Given the description of an element on the screen output the (x, y) to click on. 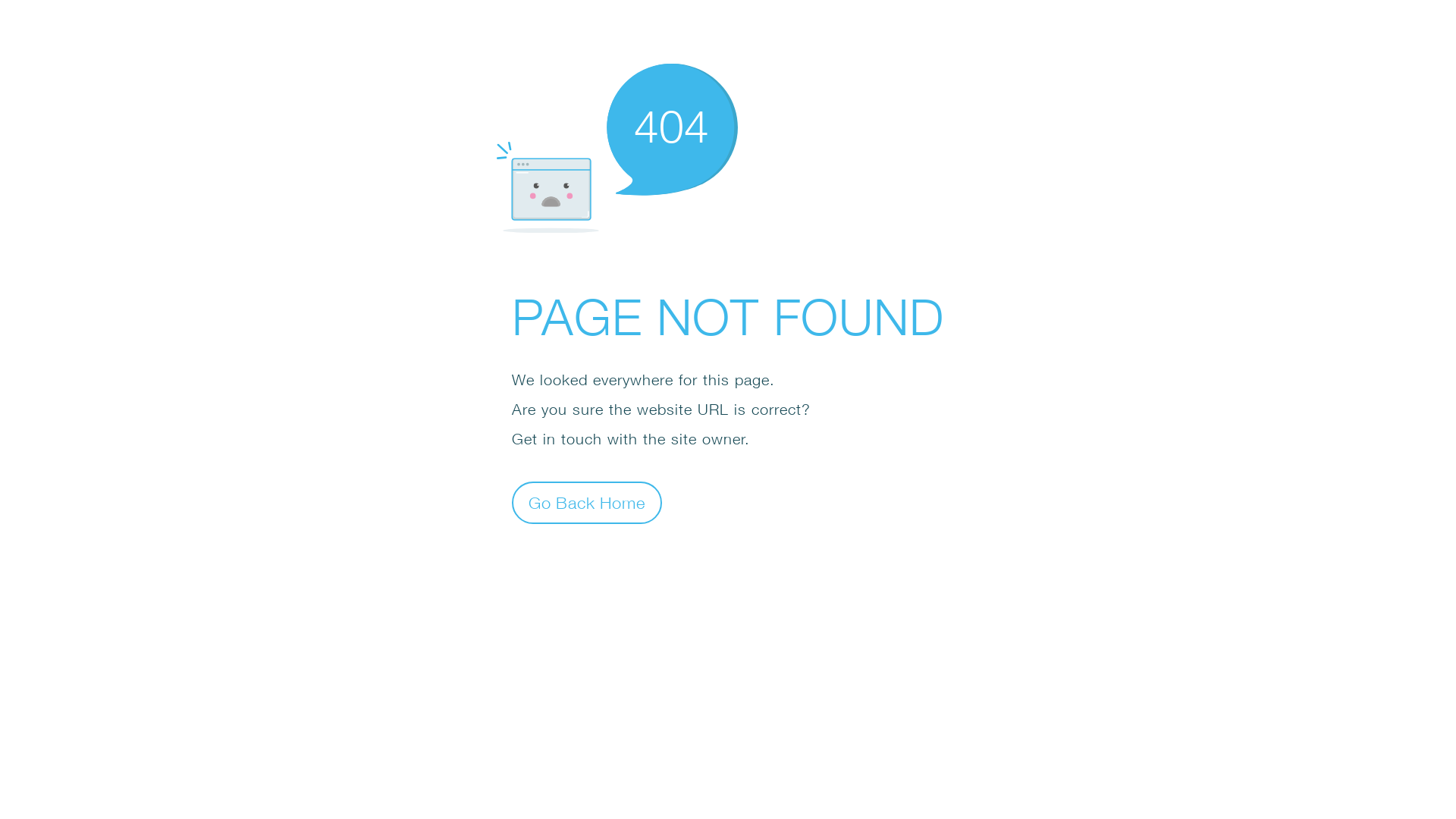
Go Back Home Element type: text (586, 502)
